Given the description of an element on the screen output the (x, y) to click on. 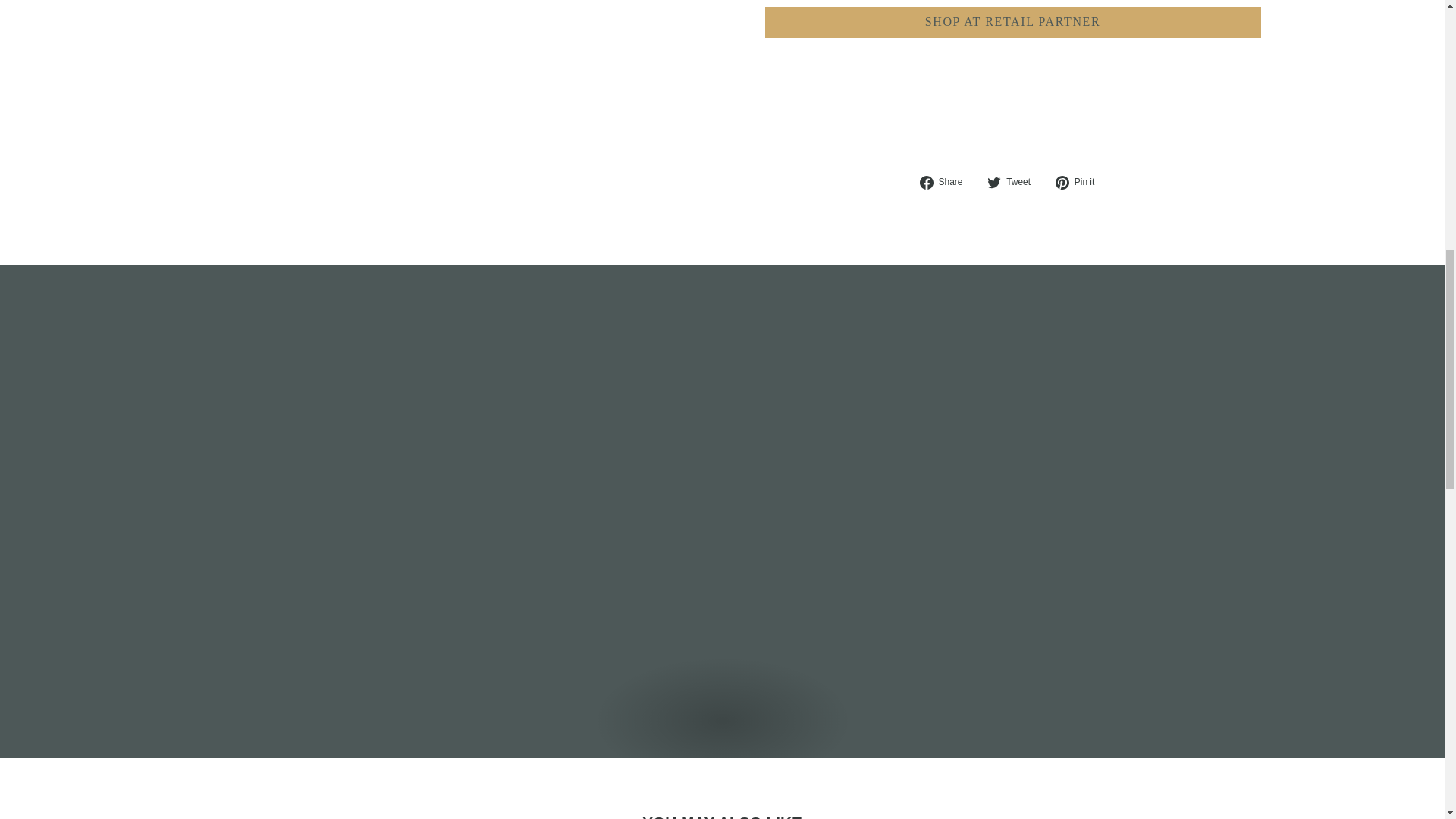
Share on Facebook (947, 182)
Pin on Pinterest (1080, 182)
Tweet on Twitter (1014, 182)
